Given the description of an element on the screen output the (x, y) to click on. 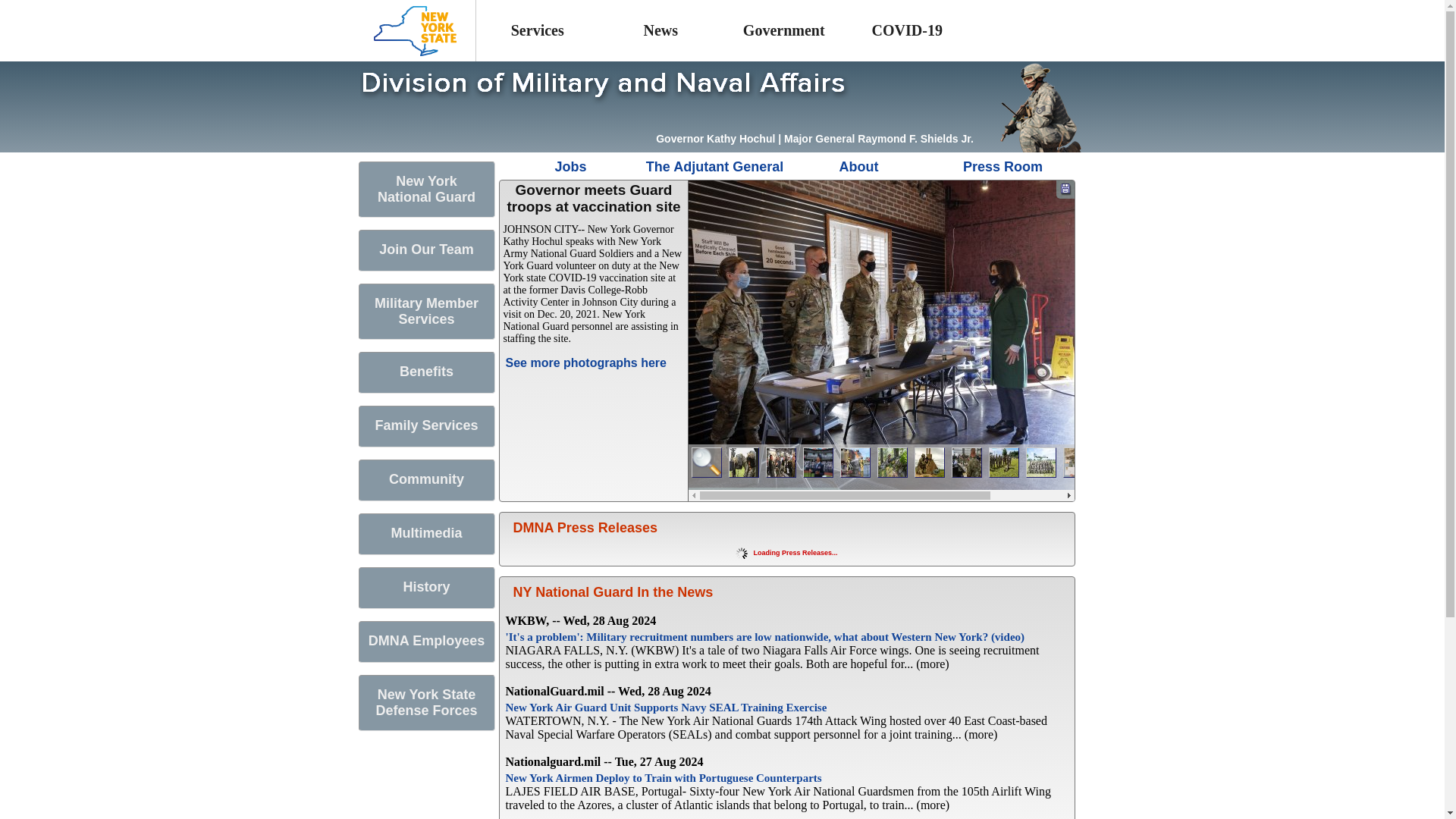
Search our DVIDS Content (631, 128)
NYNG (427, 195)
Follow us on X (416, 128)
Visit us on Facebook (459, 128)
New York National Guard (426, 189)
Services (537, 30)
Visit us on Youtube (373, 128)
View our photos on Instagram (588, 128)
View our Flickr Photostream (545, 128)
NYS DMNA Press Releases on Readmedia (502, 128)
